Given the description of an element on the screen output the (x, y) to click on. 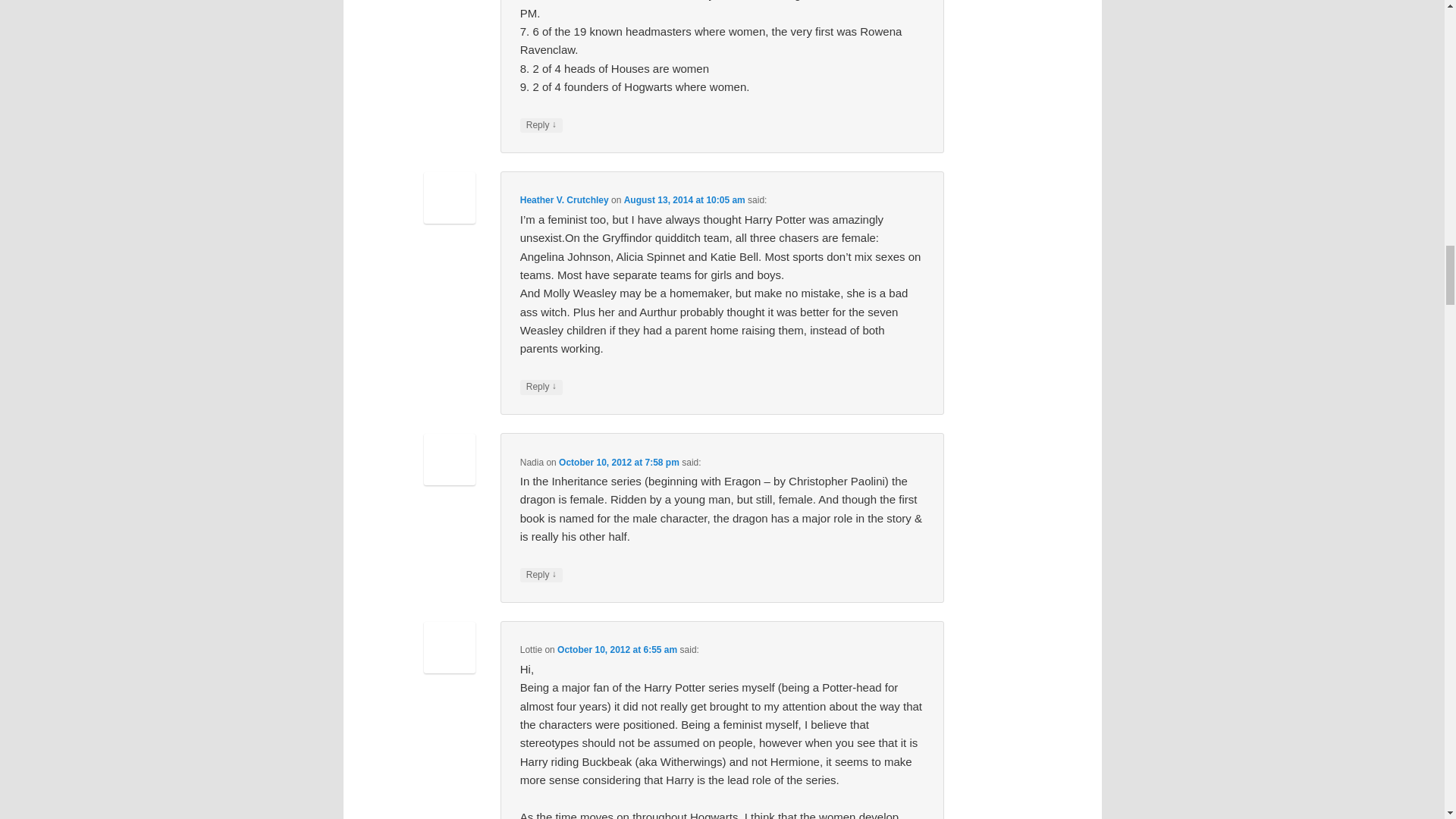
October 10, 2012 at 6:55 am (617, 649)
August 13, 2014 at 10:05 am (684, 199)
October 10, 2012 at 7:58 pm (619, 462)
Heather V. Crutchley (563, 199)
